Given the description of an element on the screen output the (x, y) to click on. 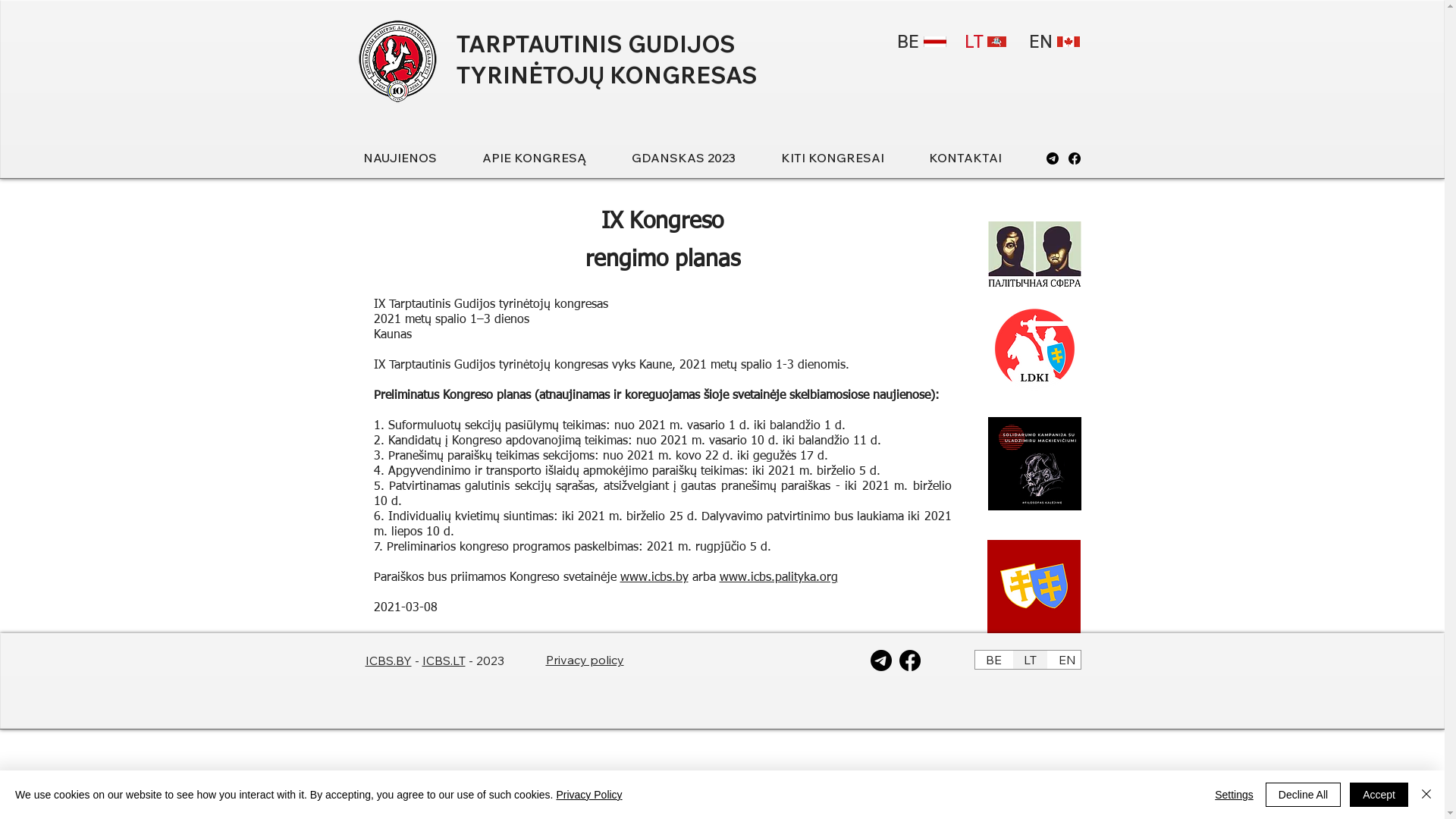
Accept Element type: text (1378, 794)
Privacy policy Element type: text (585, 659)
EN Element type: text (1065, 659)
www.icbs.palityka.org Element type: text (777, 577)
BE Element type: text (993, 659)
LT Element type: text (985, 41)
LT Element type: text (1028, 659)
EN Element type: text (1051, 41)
Privacy Policy Element type: text (588, 794)
KONTAKTAI Element type: text (979, 157)
BE Element type: text (918, 41)
NAUJIENOS Element type: text (413, 157)
ICBS.LT Element type: text (442, 660)
Decline All Element type: text (1302, 794)
ICBS.BY Element type: text (388, 660)
lietuva.png Element type: hover (996, 41)
www.icbs.by Element type: text (654, 577)
GDANSKAS 2023 Element type: text (697, 157)
